Given the description of an element on the screen output the (x, y) to click on. 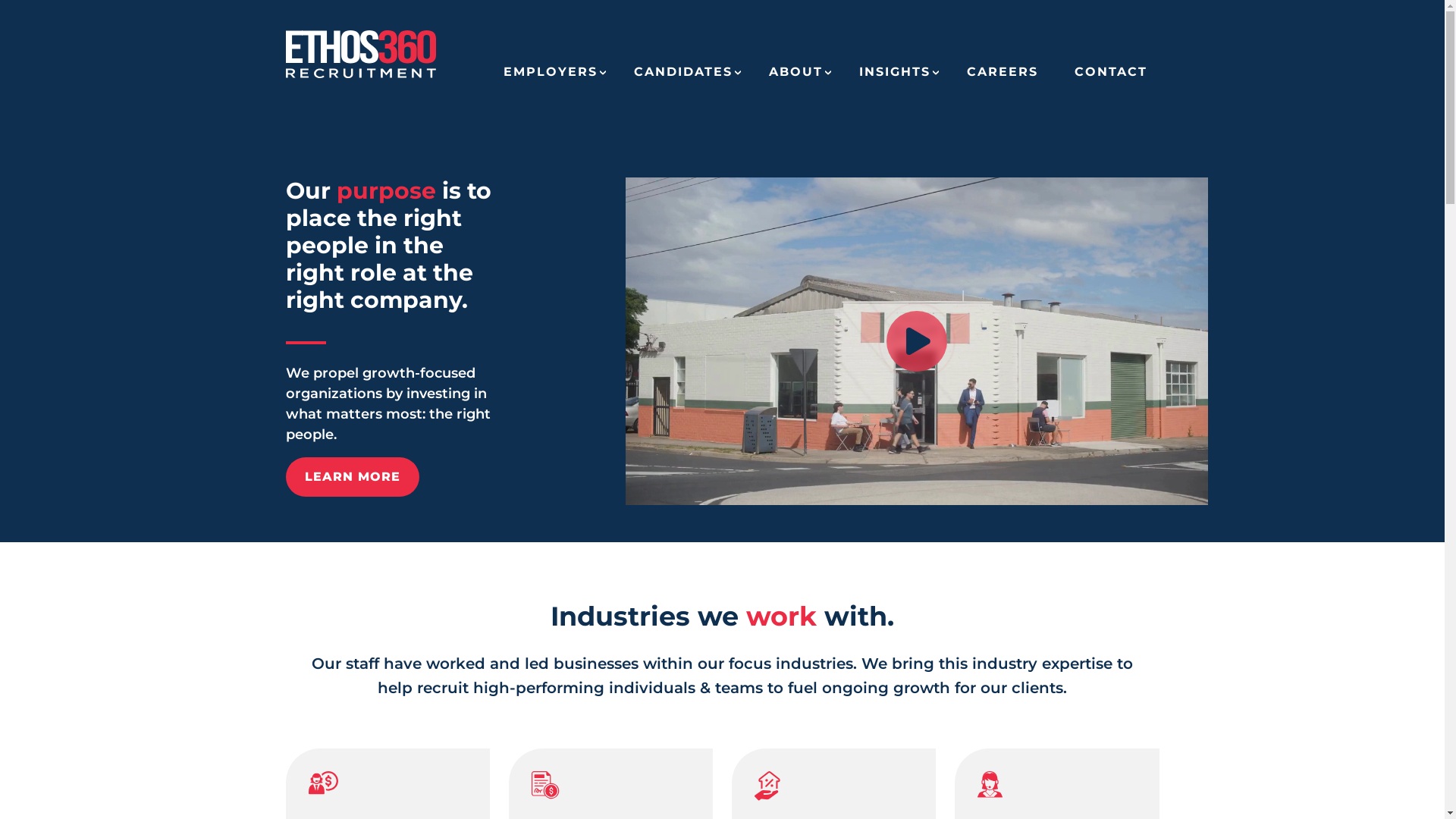
ABOUT Element type: text (795, 77)
CONTACT Element type: text (1109, 77)
LEARN MORE Element type: text (351, 476)
CAREERS Element type: text (1001, 77)
CANDIDATES Element type: text (682, 77)
EMPLOYERS Element type: text (550, 77)
INSIGHTS Element type: text (893, 77)
